Given the description of an element on the screen output the (x, y) to click on. 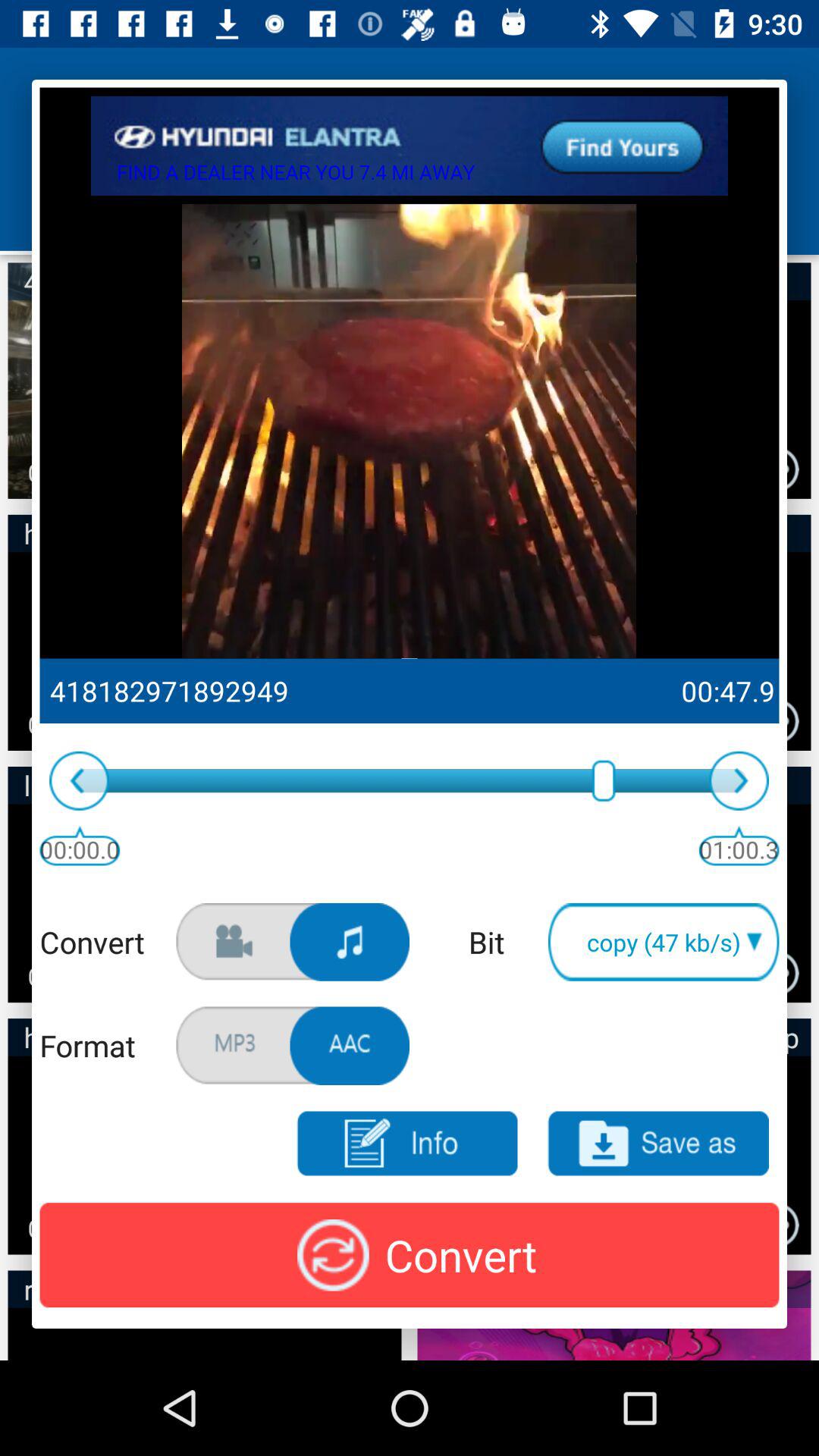
switch to aac format (349, 1045)
